Given the description of an element on the screen output the (x, y) to click on. 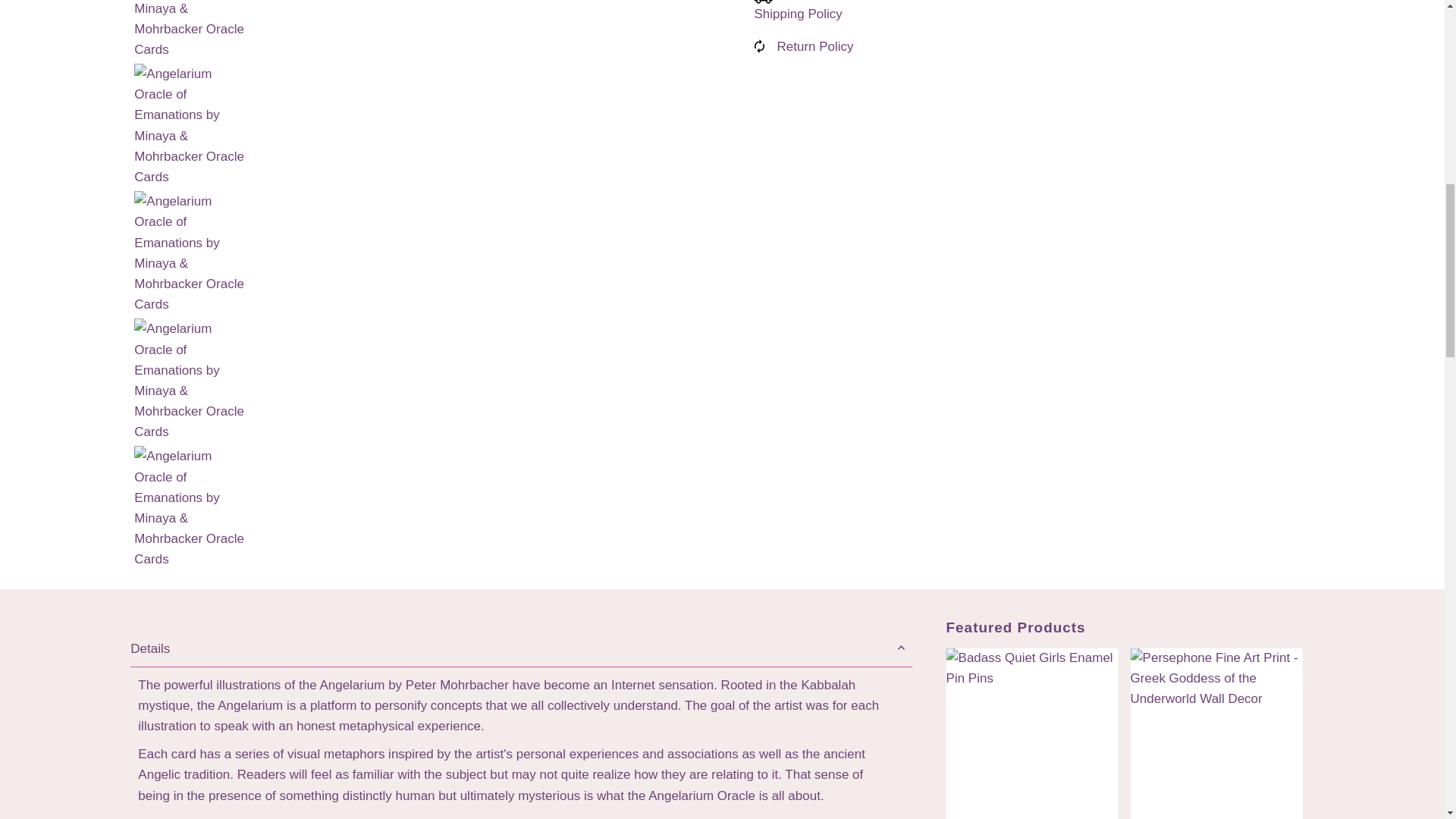
Shipping Policy (797, 13)
Badass Quiet Girls Enamel Pin (1032, 733)
Persephone Fine Art Print - Greek Goddess of the Underworld (1217, 733)
Return Policy (814, 46)
